Given the description of an element on the screen output the (x, y) to click on. 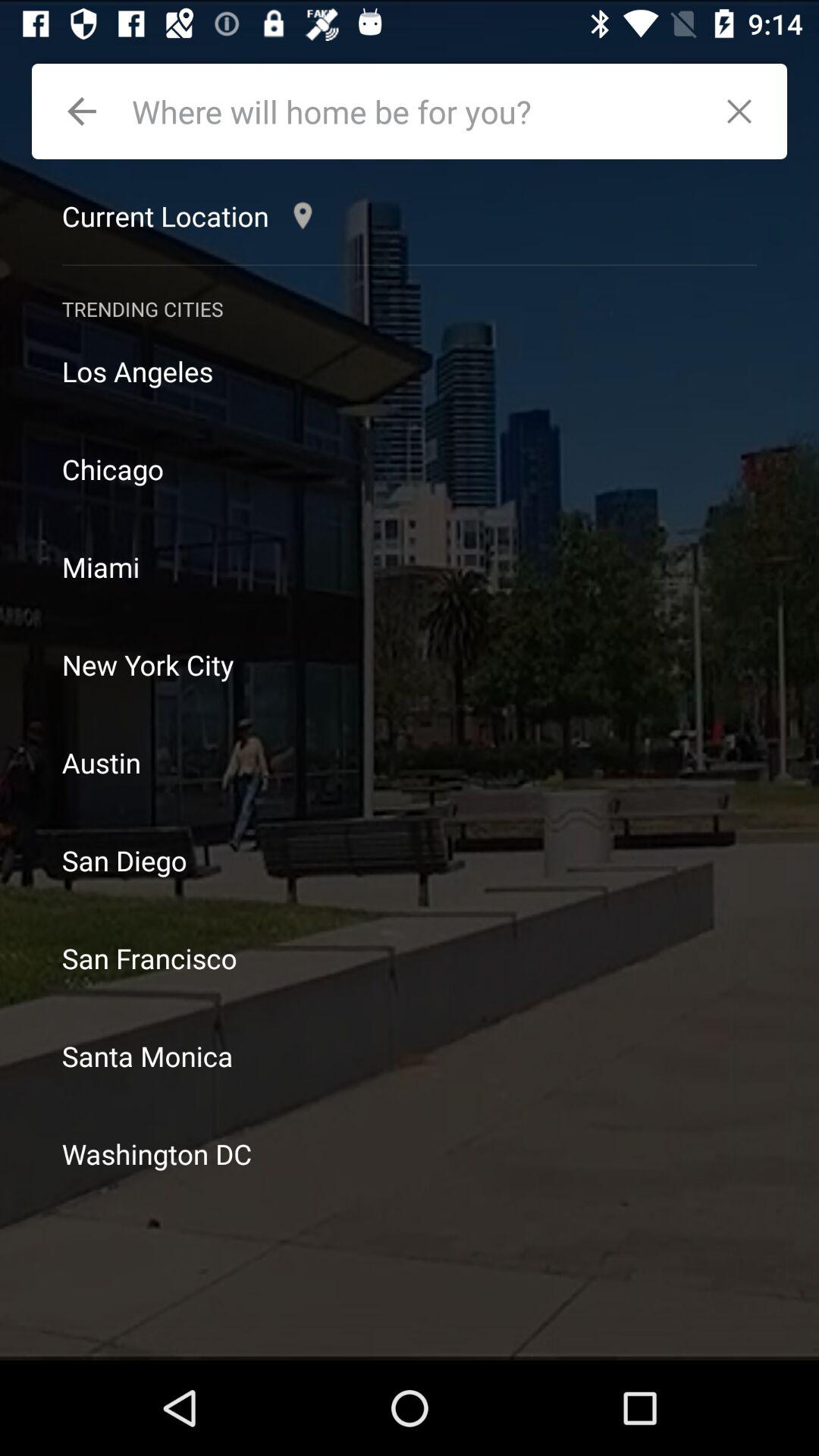
jump until los angeles (409, 371)
